Given the description of an element on the screen output the (x, y) to click on. 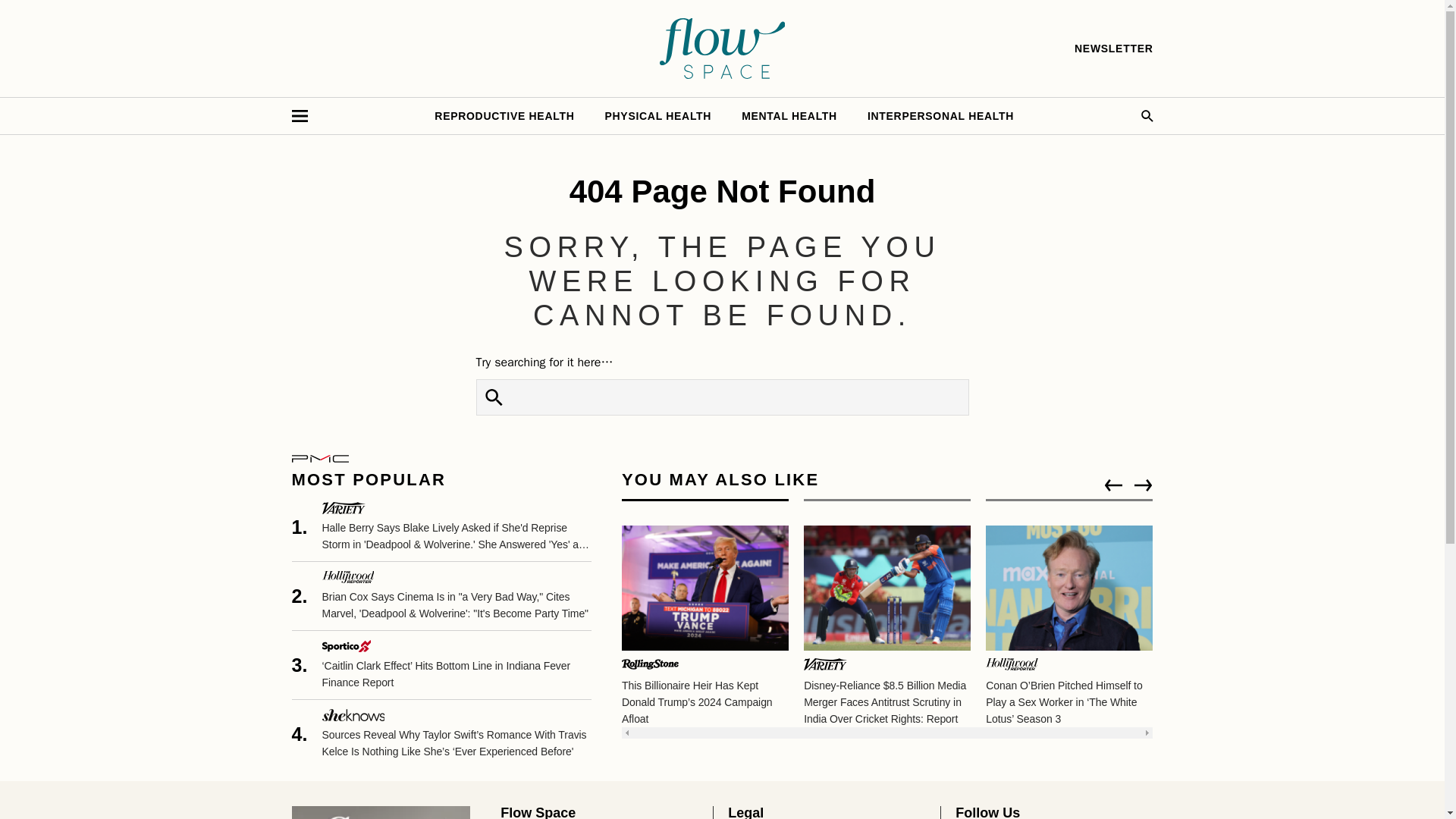
INTERPERSONAL HEALTH (940, 115)
PHYSICAL HEALTH (658, 115)
MENTAL HEALTH (789, 115)
Submit (494, 397)
REPRODUCTIVE HEALTH (503, 115)
NEWSLETTER (1113, 48)
